Given the description of an element on the screen output the (x, y) to click on. 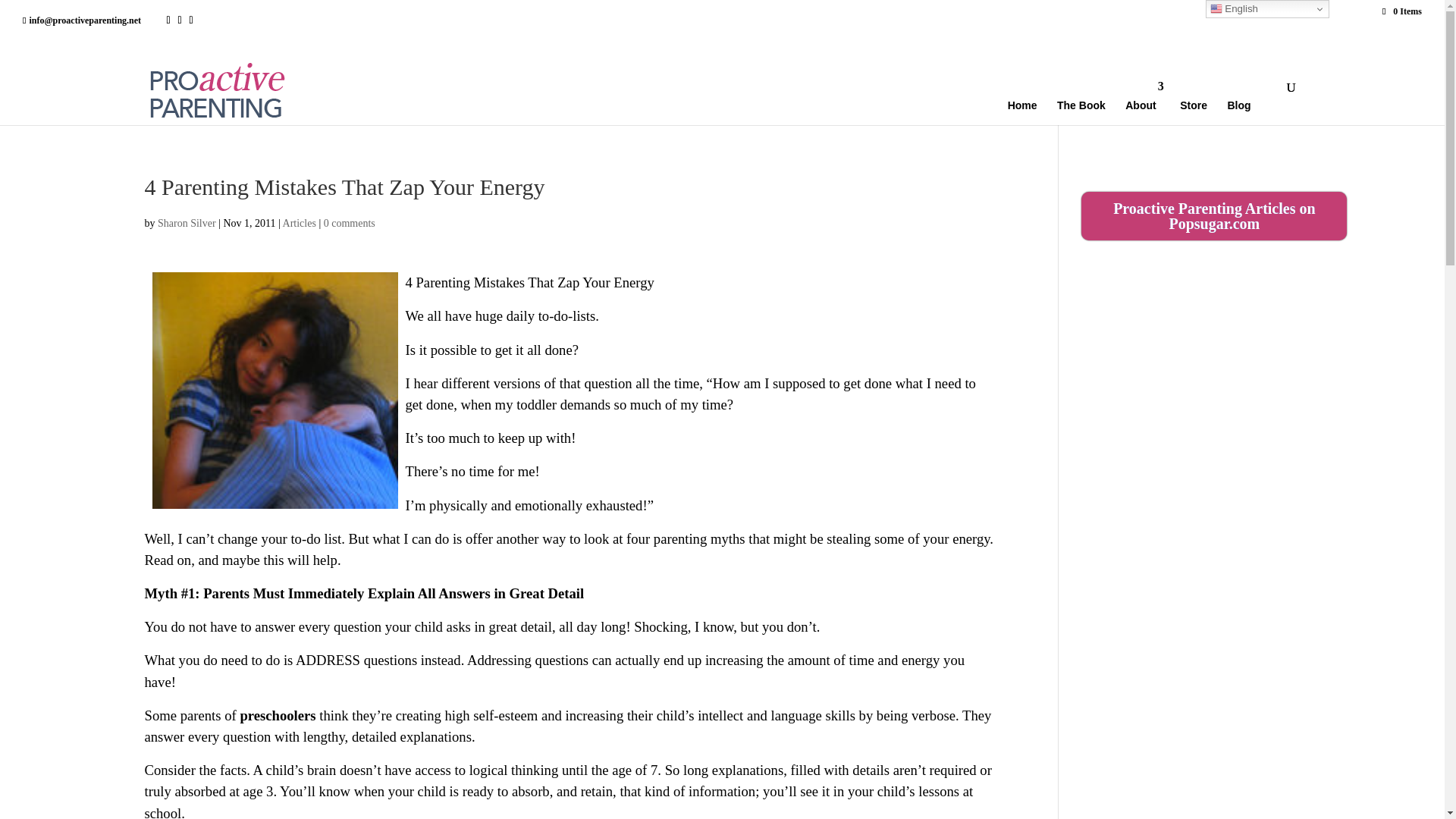
Posts by Sharon Silver (186, 223)
Articles (298, 223)
0 comments (349, 223)
About (1148, 103)
Sharon Silver (186, 223)
The Book (1087, 103)
Proactive Parenting Articles on Popsugar.com (1213, 215)
0 Items (1401, 10)
